Given the description of an element on the screen output the (x, y) to click on. 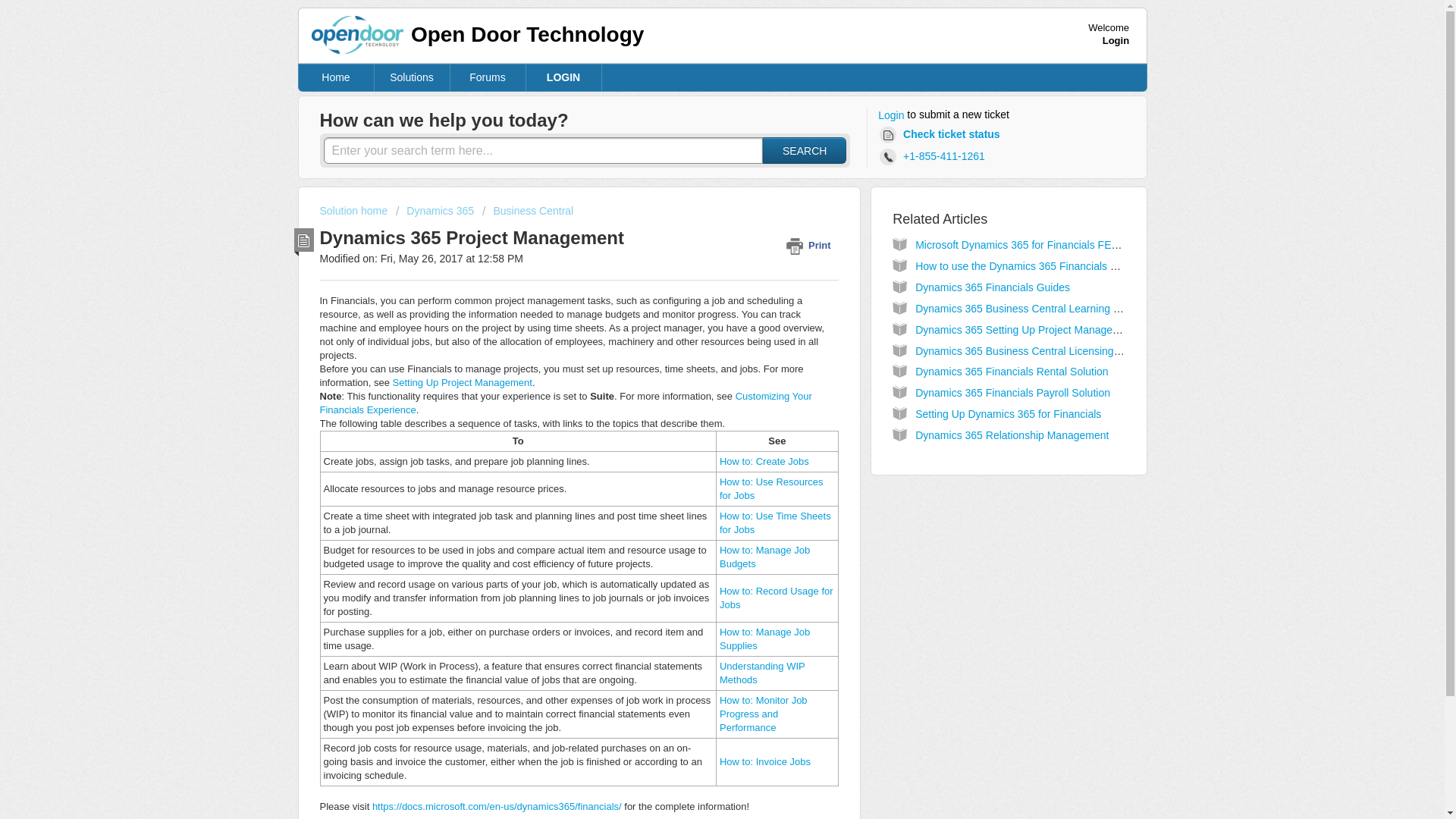
How to: Create Jobs (764, 460)
How to: Use Time Sheets for Jobs (775, 522)
Dynamics 365 Financials Payroll Solution (1012, 392)
Dynamics 365 Business Central Learning and Help Resources (1062, 308)
Check ticket status (941, 134)
Understanding WIP Methods (762, 672)
How to use the Dynamics 365 Financials Business Edition API (1061, 265)
Setting Up Dynamics 365 for Financials (1007, 413)
Dynamics 365 Financials Rental Solution (1011, 371)
Setting Up Project Management (462, 382)
Dynamics 365 Financials Guides (992, 287)
Print (812, 244)
Dynamics 365 Business Central Licensing Guide (1029, 350)
Print this Article (812, 244)
